Given the description of an element on the screen output the (x, y) to click on. 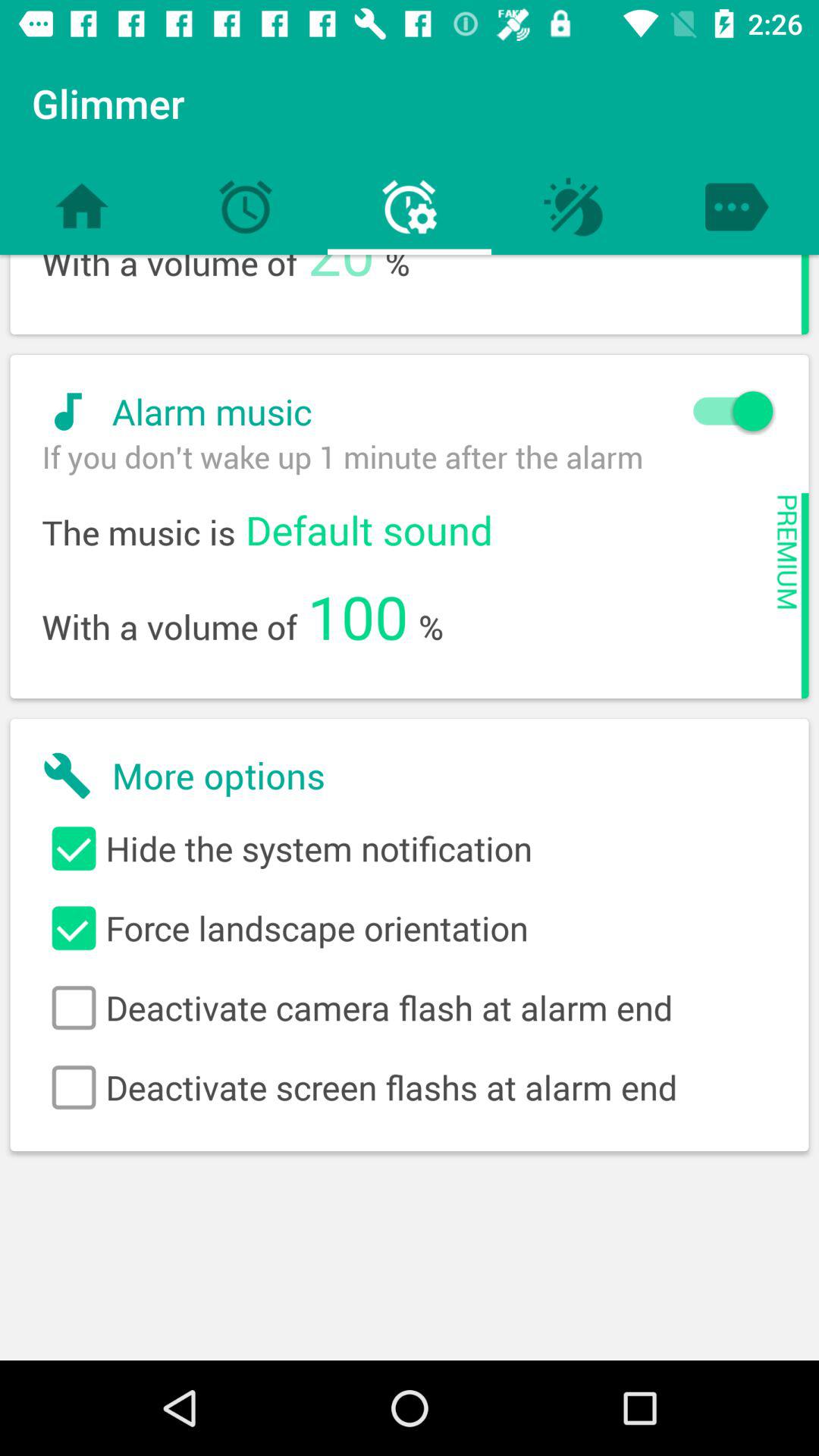
scroll until the default sound item (368, 529)
